Given the description of an element on the screen output the (x, y) to click on. 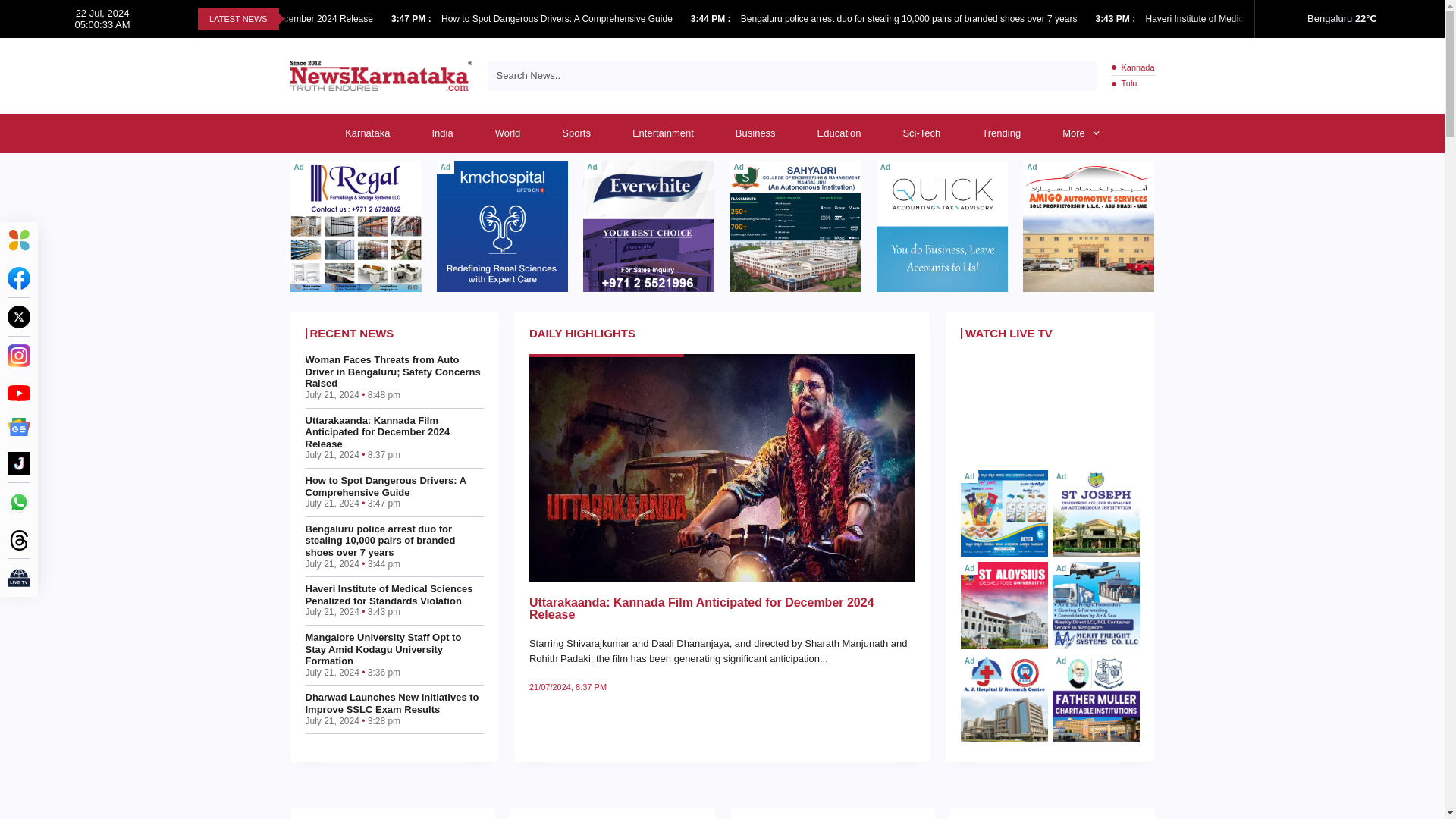
Published on: July 21, 2024 3:47 pm (412, 18)
Published on: July 21, 2024 3:44 pm (711, 18)
Published on: July 21, 2024 3:43 pm (1115, 18)
